Given the description of an element on the screen output the (x, y) to click on. 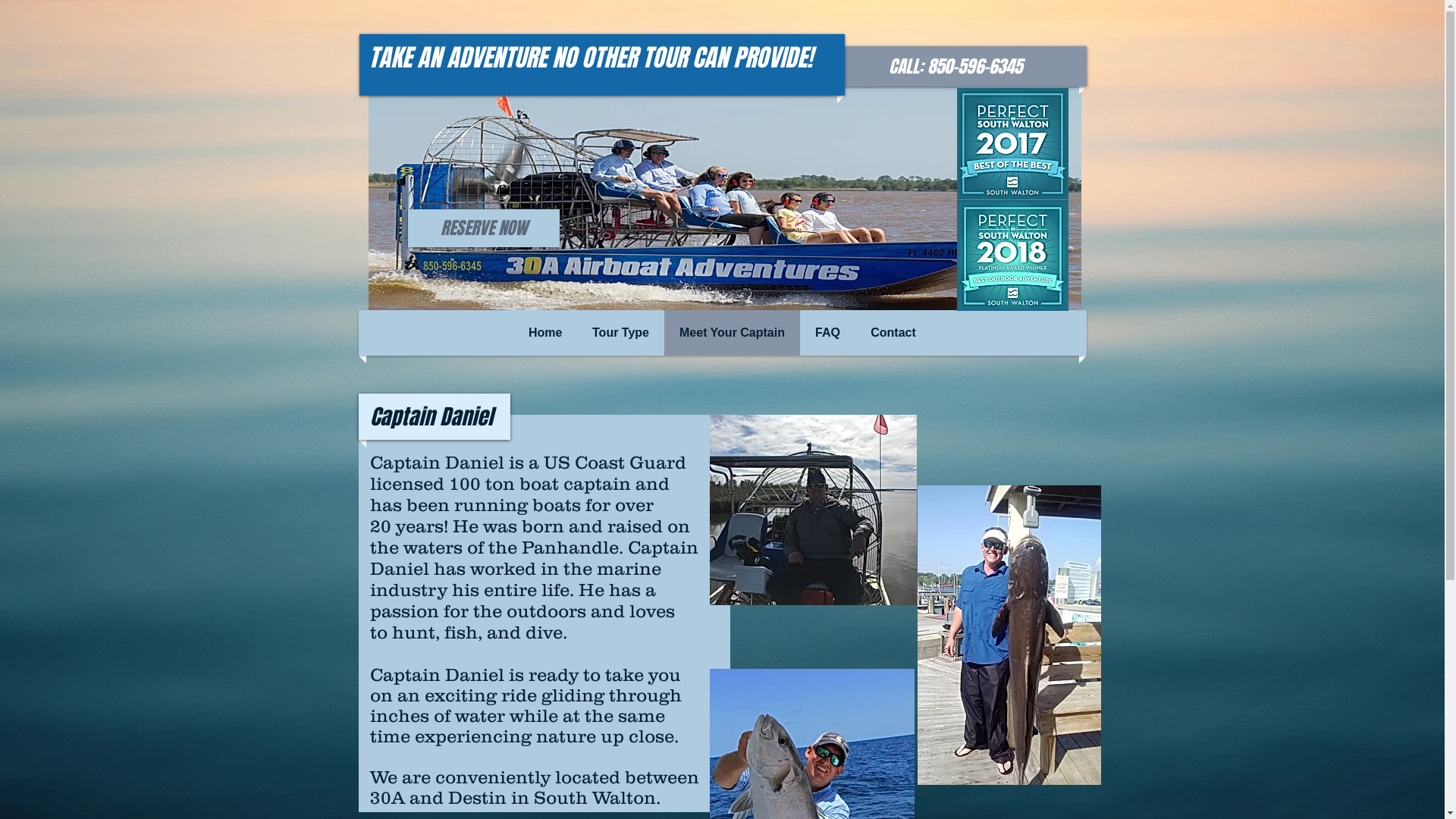
Home Element type: text (545, 332)
FAQ Element type: text (827, 332)
Contact Element type: text (893, 332)
17.jpg Element type: hover (724, 191)
Tour Type Element type: text (620, 332)
RESERVE NOW Element type: text (483, 228)
Meet Your Captain Element type: text (732, 332)
